Given the description of an element on the screen output the (x, y) to click on. 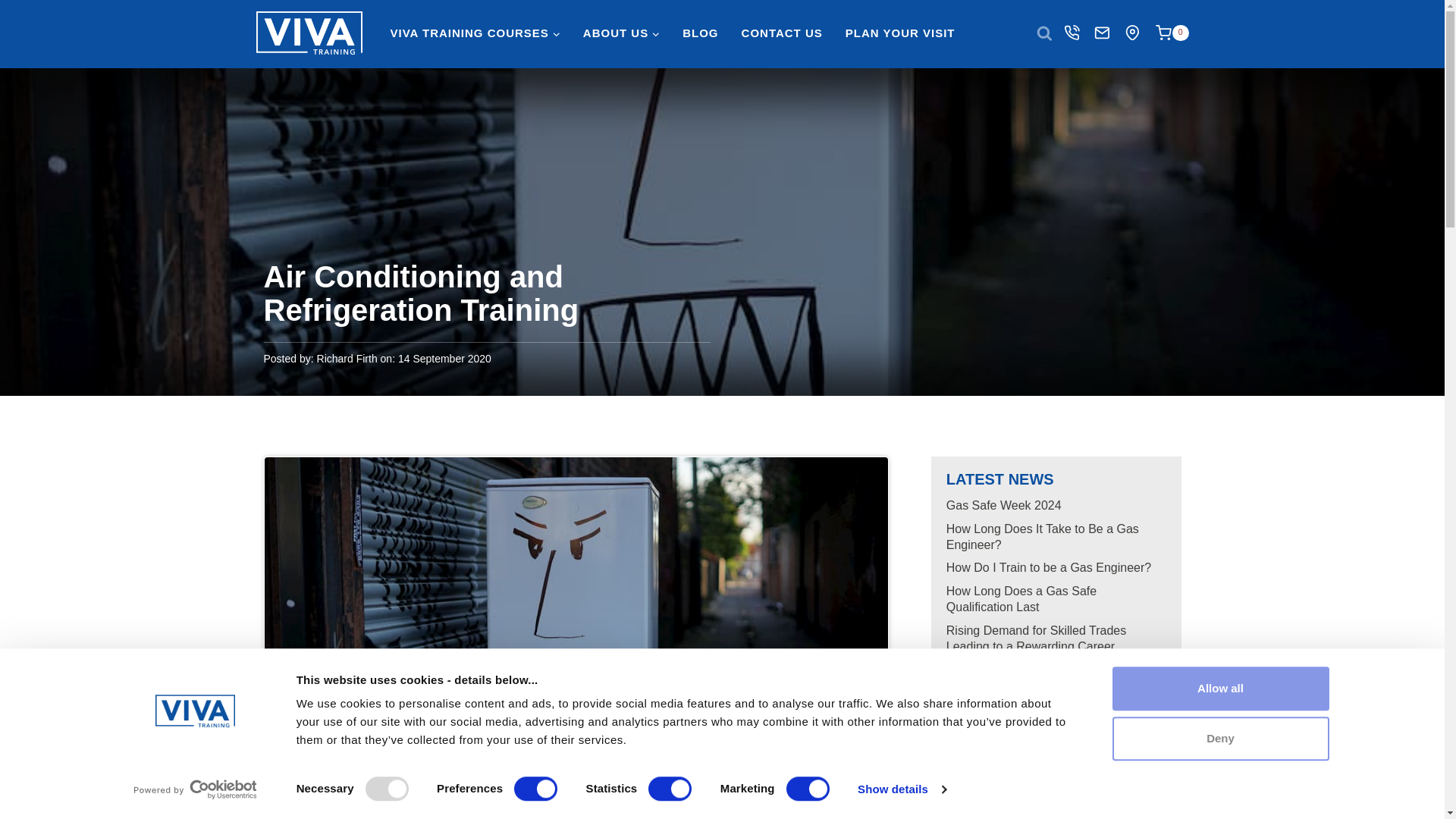
Show details (900, 789)
